Given the description of an element on the screen output the (x, y) to click on. 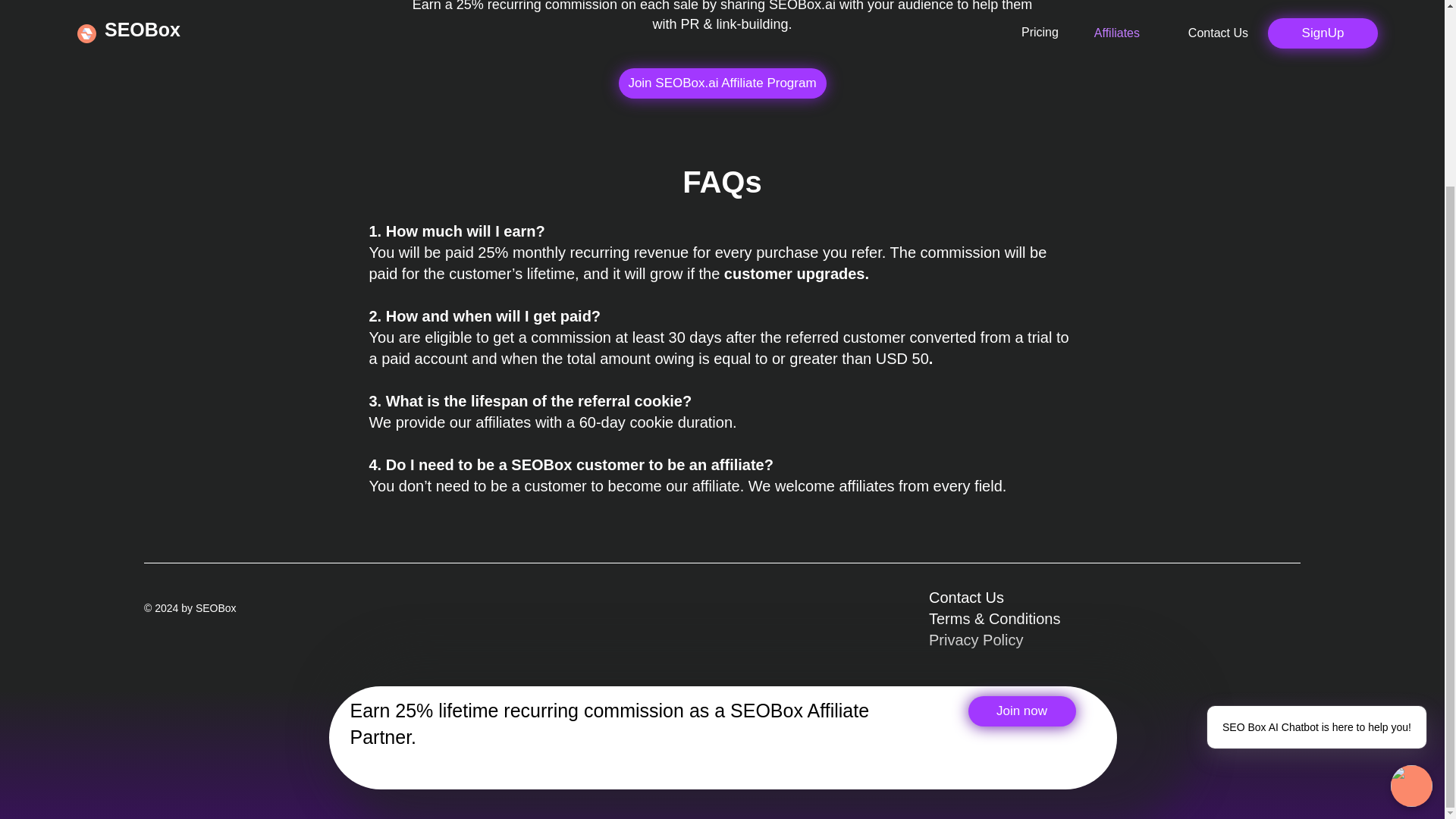
Join now (1021, 711)
Join SEOBox.ai Affiliate Program (722, 82)
Privacy Policy (975, 639)
Contact Us (966, 597)
